Given the description of an element on the screen output the (x, y) to click on. 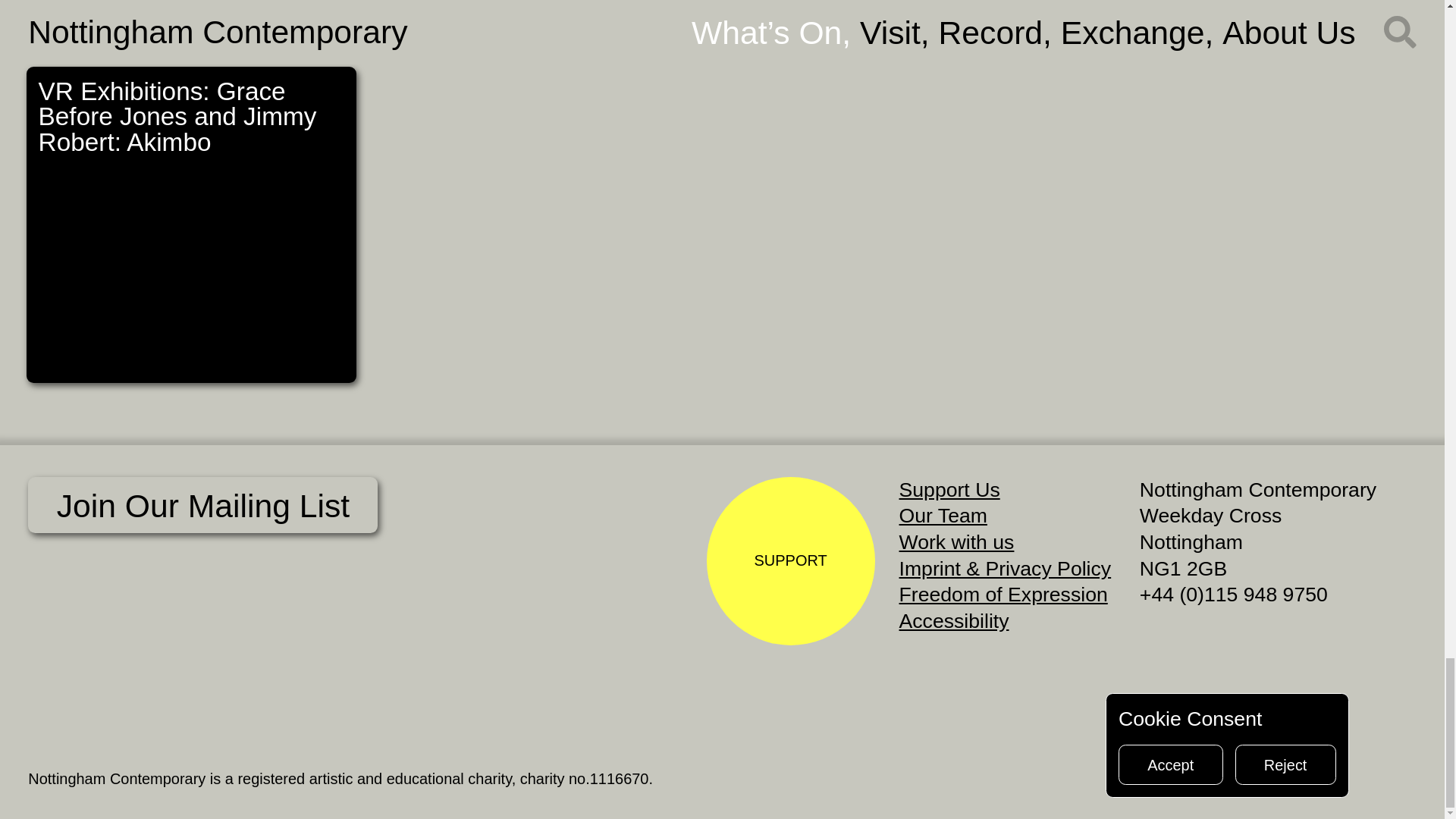
Join Our Mailing List (202, 504)
Freedom of Expression (1003, 594)
SUPPORT (790, 560)
Accessibility (954, 620)
Support Us (368, 21)
Our Team (949, 489)
VR Exhibitions: Grace Before Jones and Jimmy Robert: Akimbo (943, 515)
Work with us (191, 224)
